Given the description of an element on the screen output the (x, y) to click on. 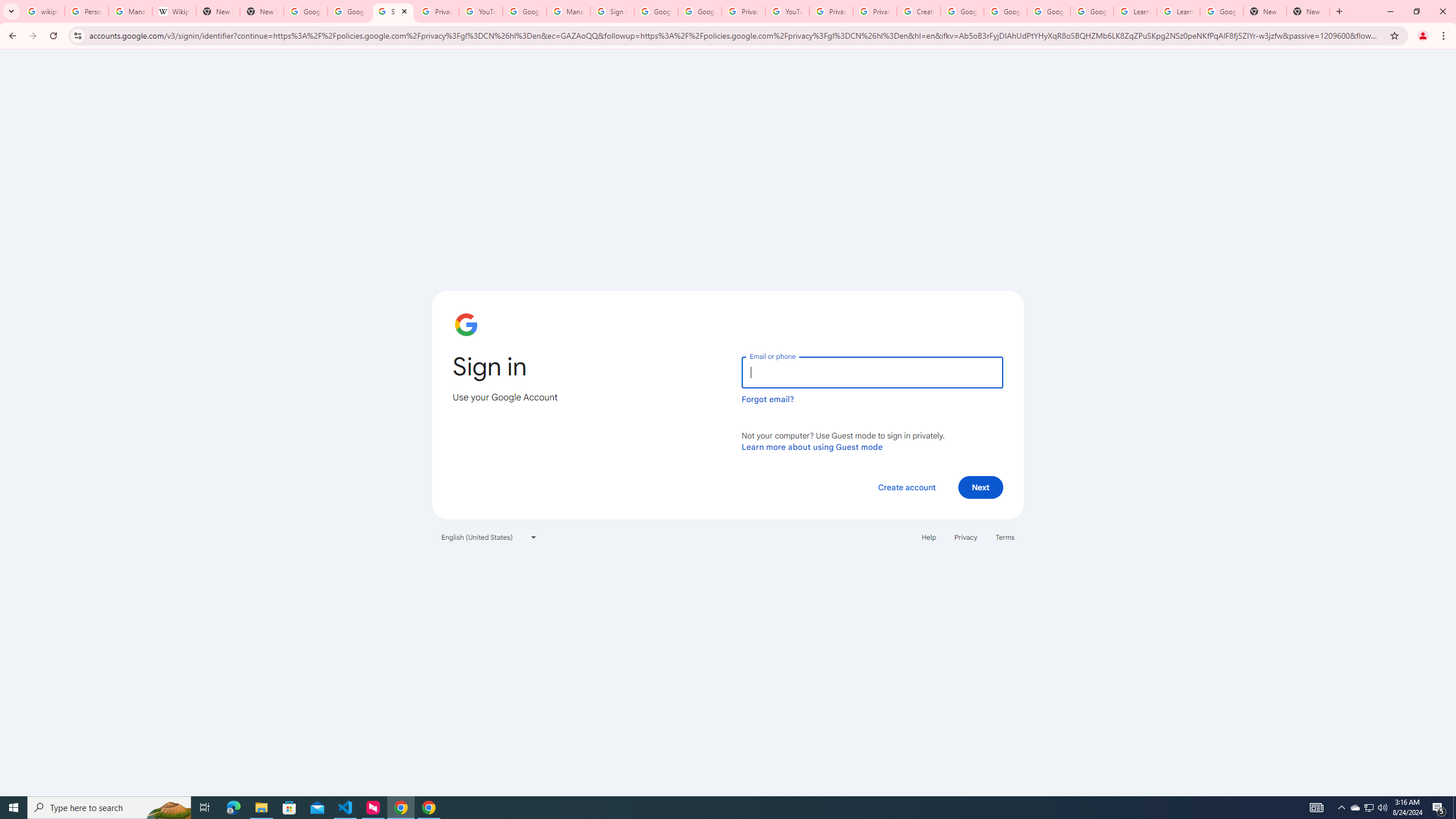
Create account (905, 486)
English (United States) (489, 536)
Create your Google Account (918, 11)
Sign in - Google Accounts (612, 11)
